Given the description of an element on the screen output the (x, y) to click on. 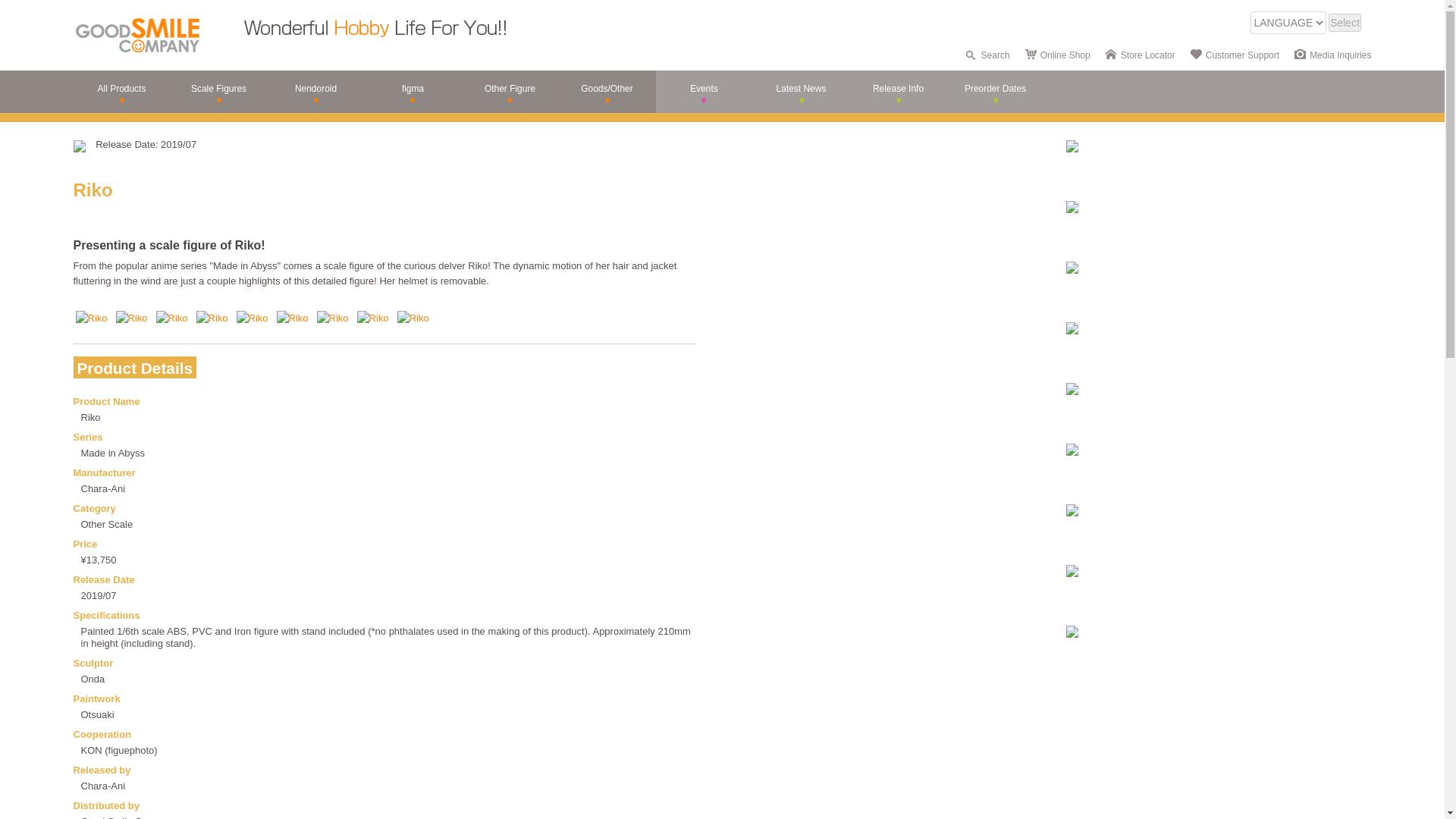
Scale Figures (218, 91)
Select (1344, 22)
Release Info (897, 91)
Online Shop (1065, 54)
Nendoroid (315, 91)
Customer Support (1242, 54)
figma (412, 91)
All Products (121, 91)
Latest News (800, 91)
Preorder Dates (994, 91)
